Given the description of an element on the screen output the (x, y) to click on. 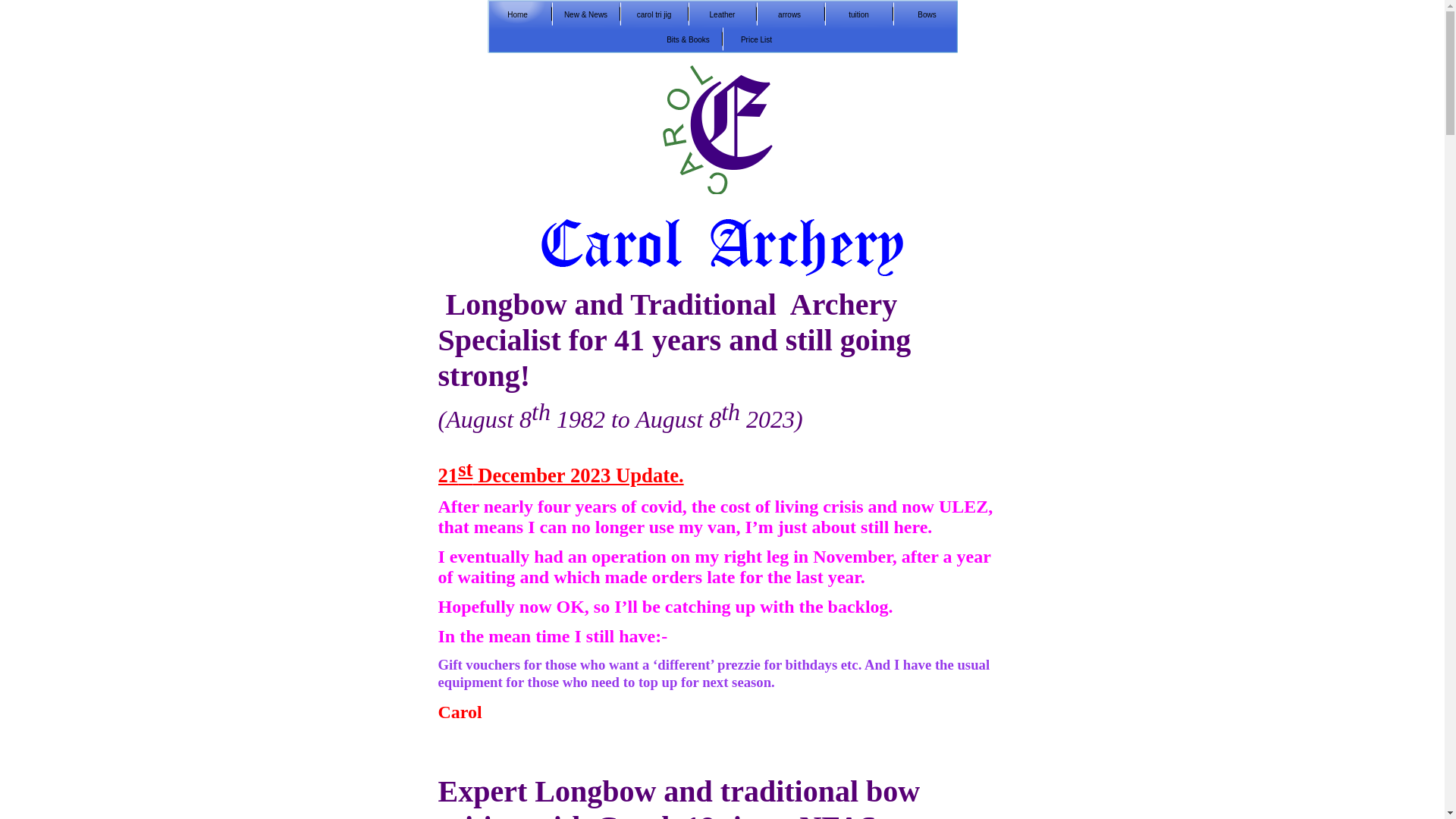
Home (516, 13)
tuition (858, 13)
Leather (721, 13)
Bows (926, 13)
arrows  (790, 13)
carol tri jig (653, 13)
Price List (756, 38)
